Given the description of an element on the screen output the (x, y) to click on. 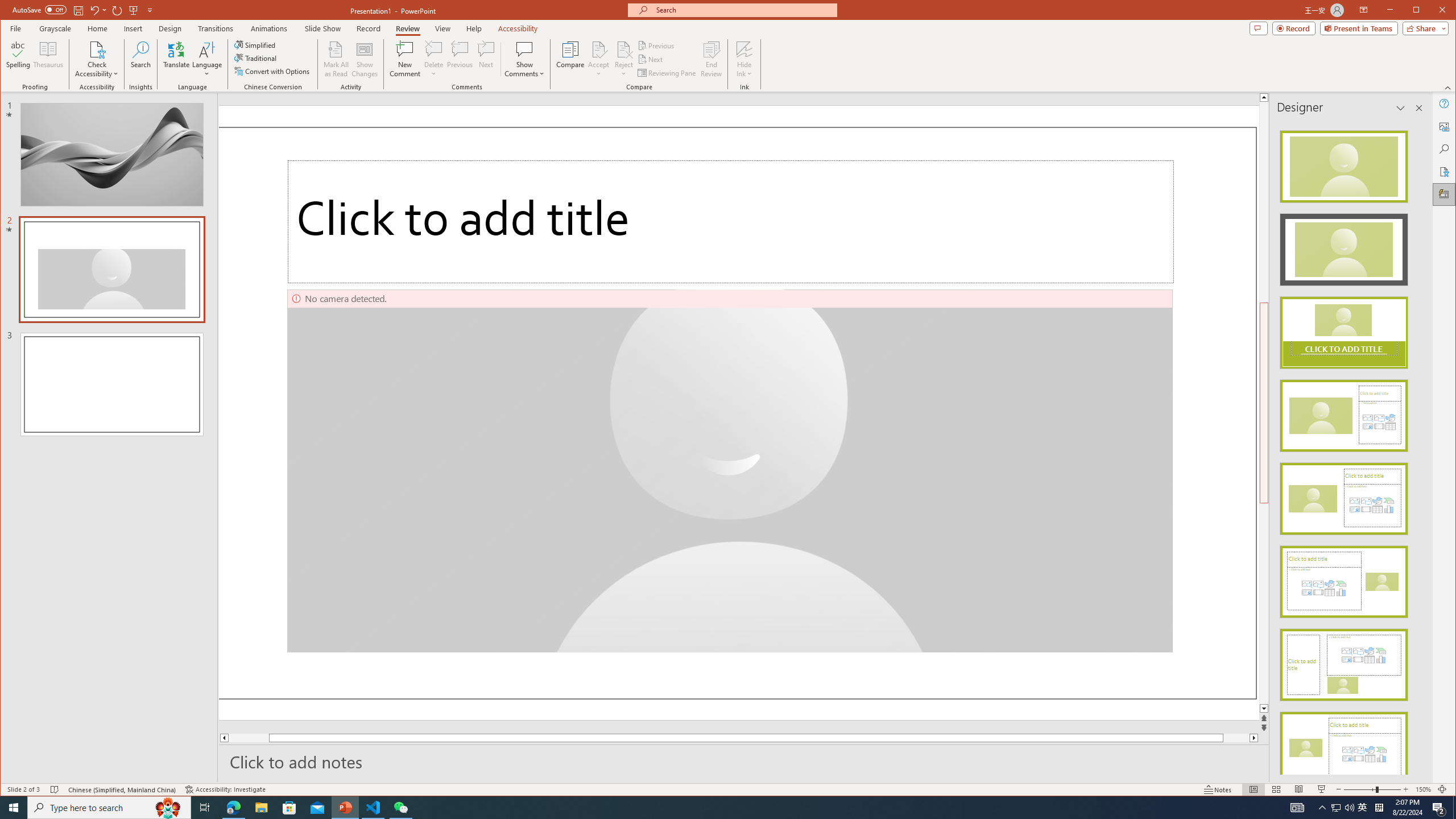
Class: NetUIScrollBar (1417, 447)
Traditional (256, 57)
Previous (657, 45)
Simplified (255, 44)
